Given the description of an element on the screen output the (x, y) to click on. 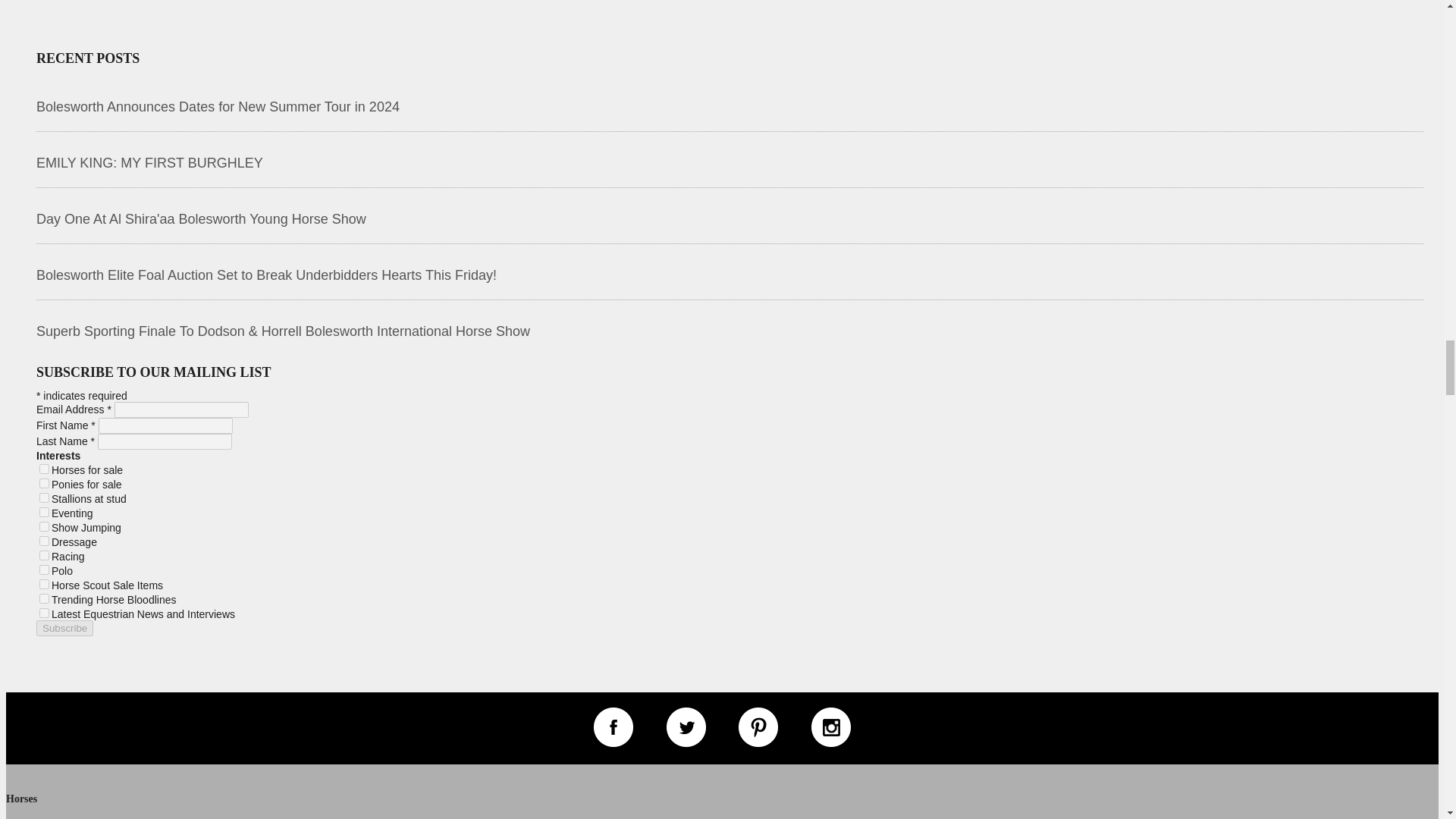
64 (44, 555)
1 (44, 469)
16 (44, 526)
128 (44, 569)
512 (44, 598)
2 (44, 483)
4 (44, 497)
1024 (44, 613)
Subscribe (64, 627)
32 (44, 541)
